Given the description of an element on the screen output the (x, y) to click on. 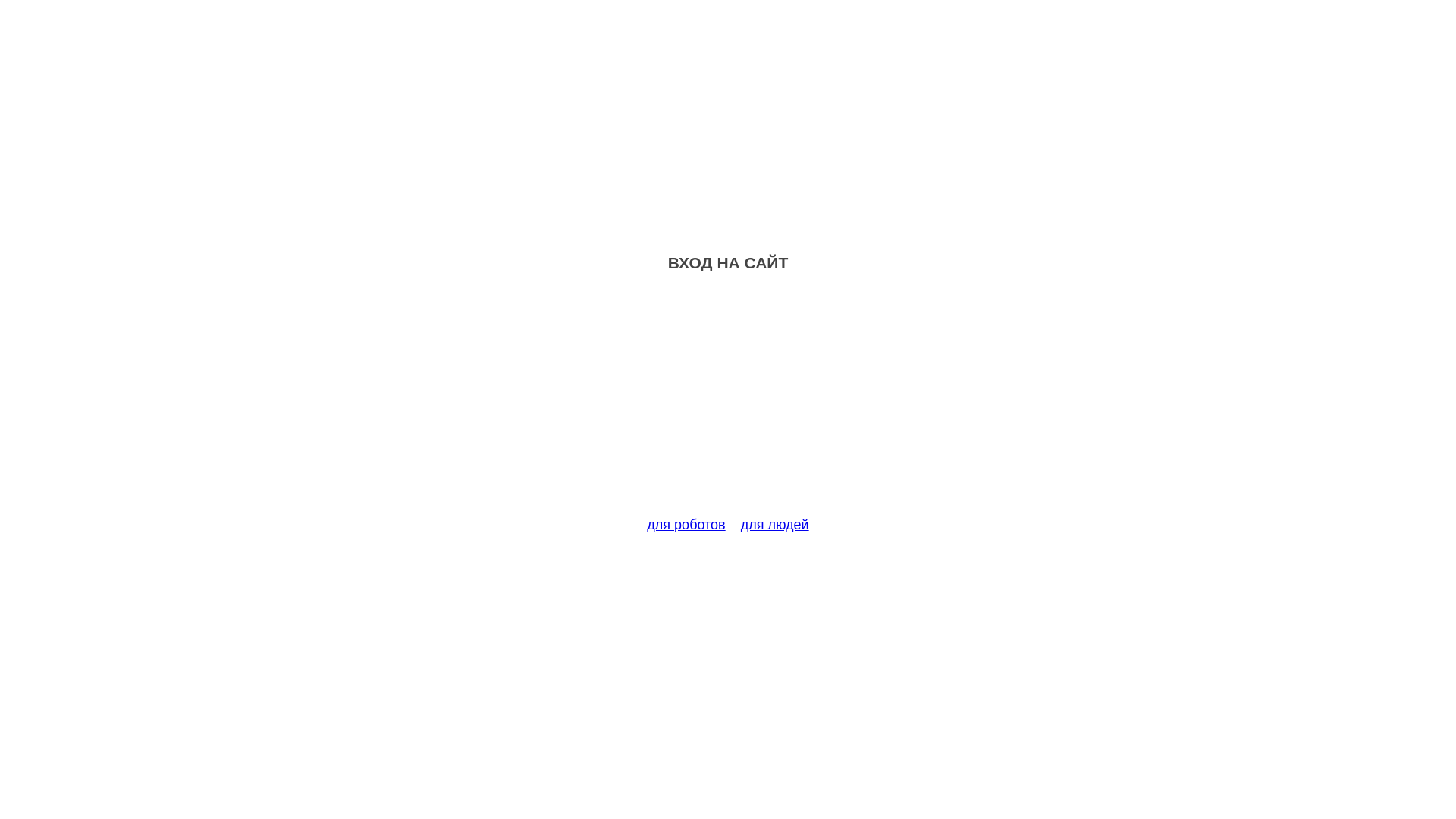
Advertisement Element type: hover (727, 403)
